Given the description of an element on the screen output the (x, y) to click on. 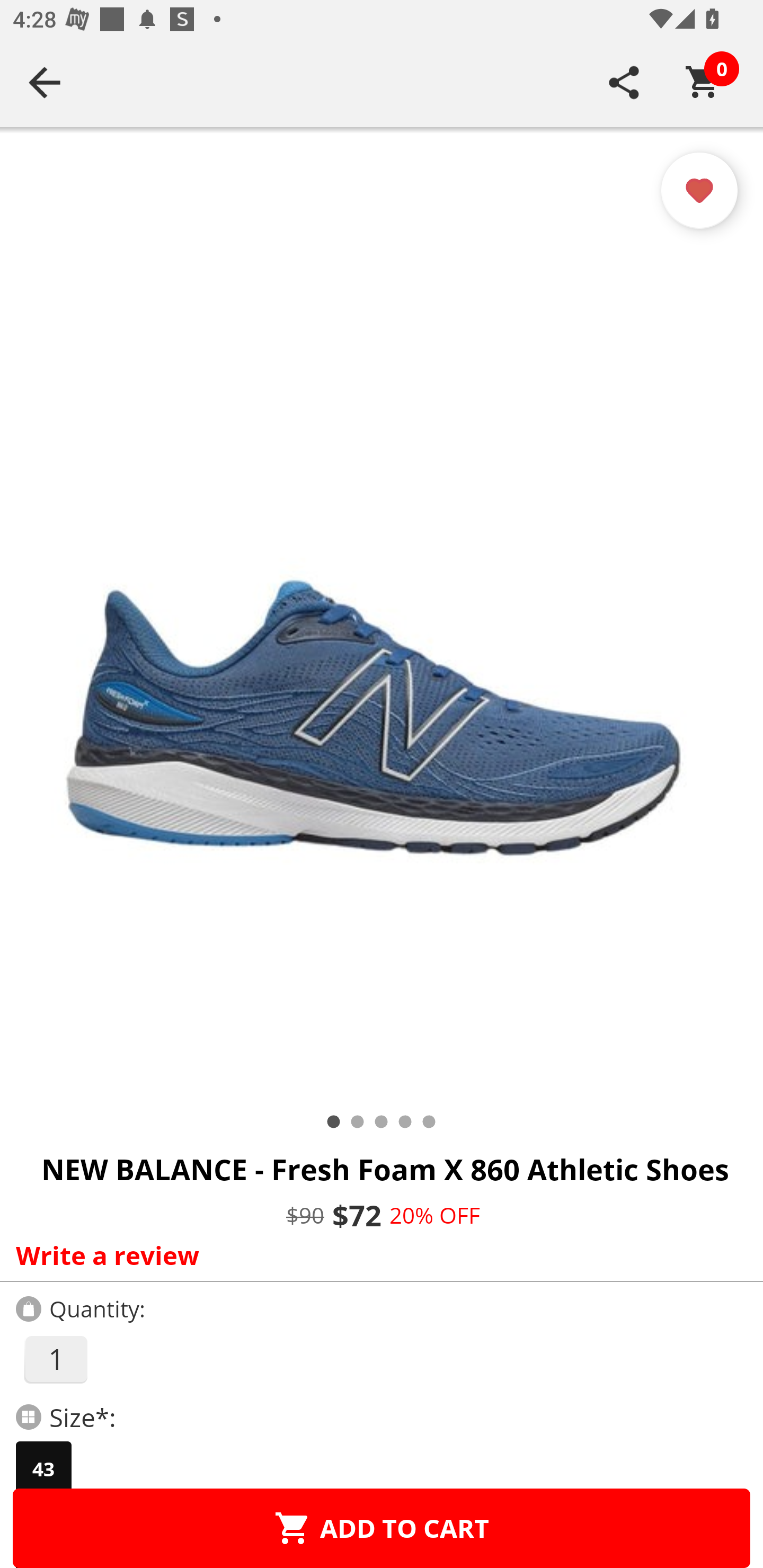
Navigate up (44, 82)
SHARE (623, 82)
Cart (703, 81)
Write a review (377, 1255)
1 (55, 1358)
43 (43, 1468)
ADD TO CART (381, 1528)
